Given the description of an element on the screen output the (x, y) to click on. 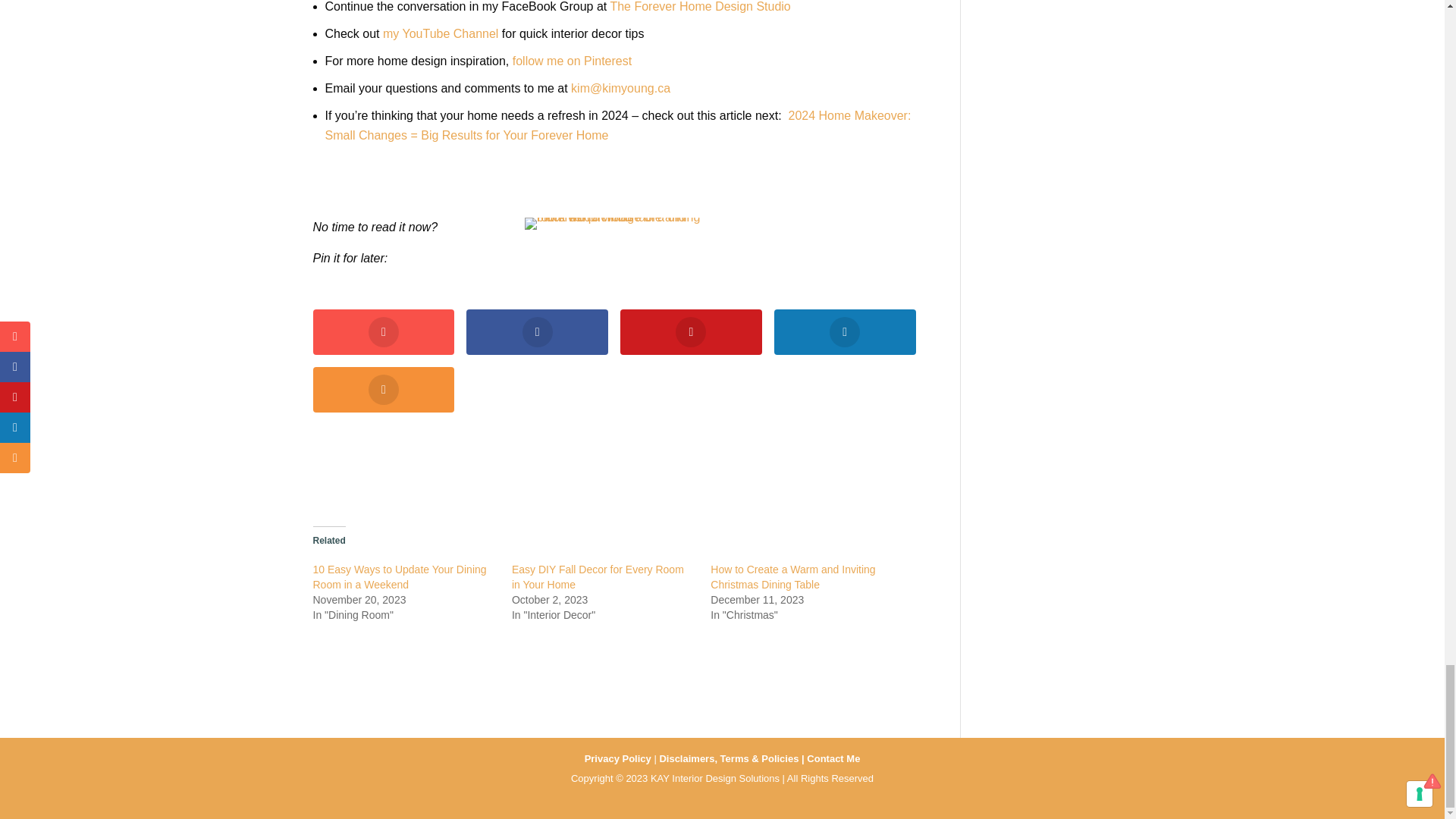
How to Create a Warm and Inviting Christmas Dining Table (792, 576)
10 Easy Ways to Update Your Dining Room in a Weekend (399, 576)
Easy DIY Fall Decor for Every Room in Your Home (598, 576)
10 Easy Ways to Update Your Dining Room in a Weekend (399, 576)
Privacy Policy (617, 758)
follow me on Pinterest (571, 60)
my YouTube Channel (442, 33)
Easy DIY Fall Decor for Every Room in Your Home (598, 576)
How to Create a Warm and Inviting Christmas Dining Table (792, 576)
The Forever Home Design Studio (700, 6)
